Given the description of an element on the screen output the (x, y) to click on. 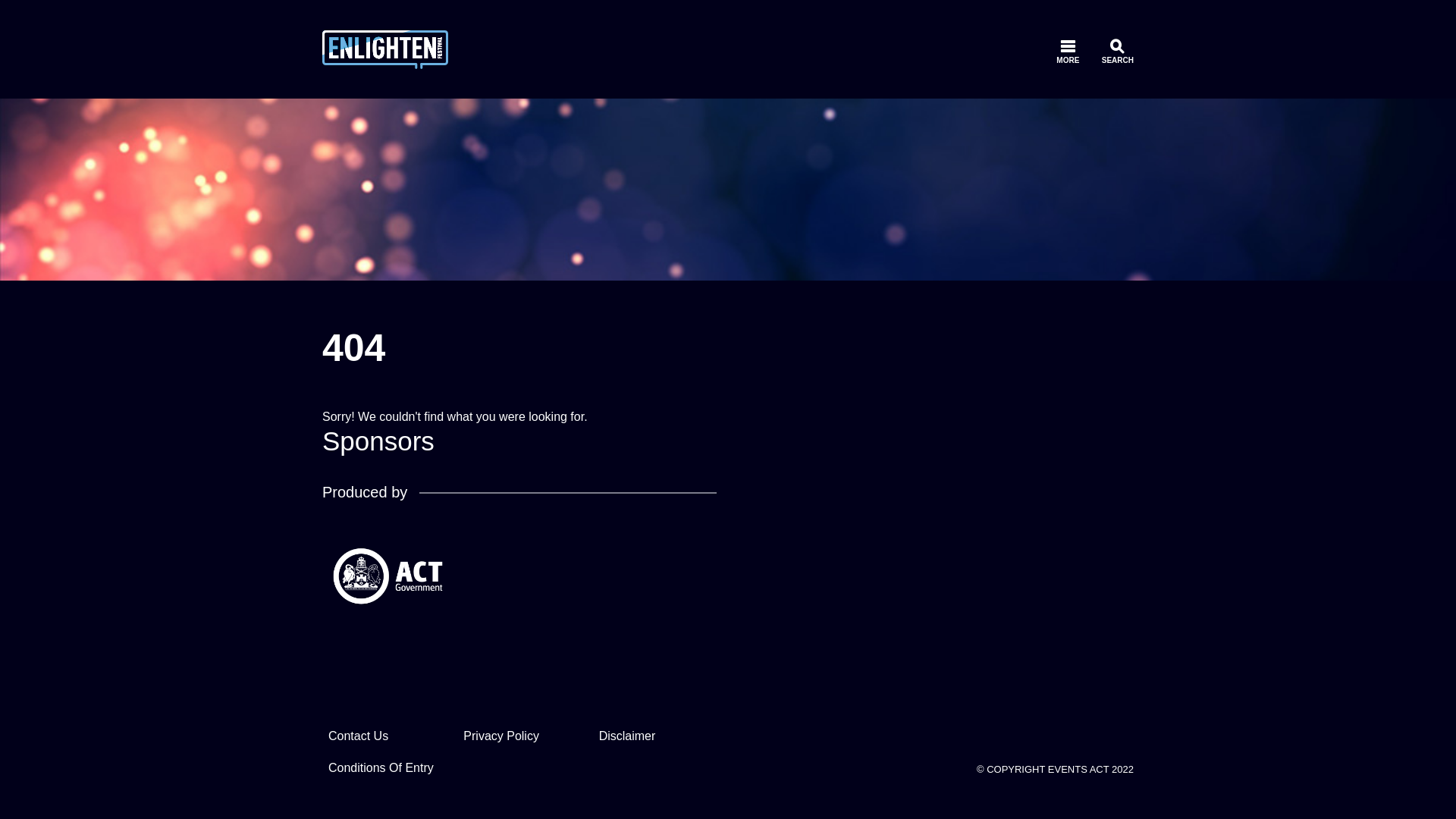
Disclaimer Element type: text (627, 735)
Contact Us Element type: text (358, 735)
MORE Element type: text (1067, 49)
SEARCH Element type: text (1117, 49)
Conditions Of Entry Element type: text (380, 767)
Privacy Policy Element type: text (501, 735)
